Given the description of an element on the screen output the (x, y) to click on. 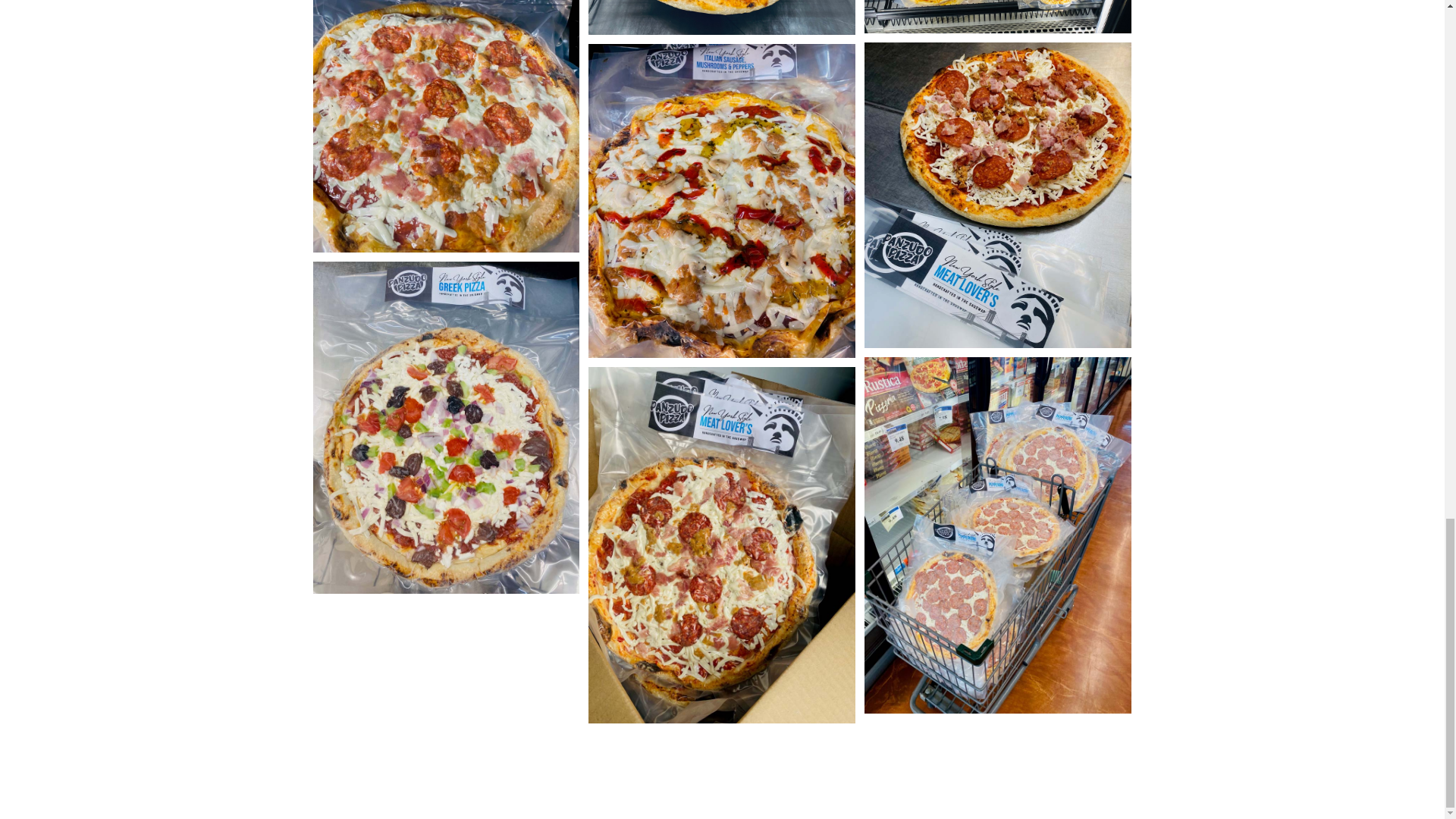
Meat-lovers-pizza-1 (446, 126)
